Given the description of an element on the screen output the (x, y) to click on. 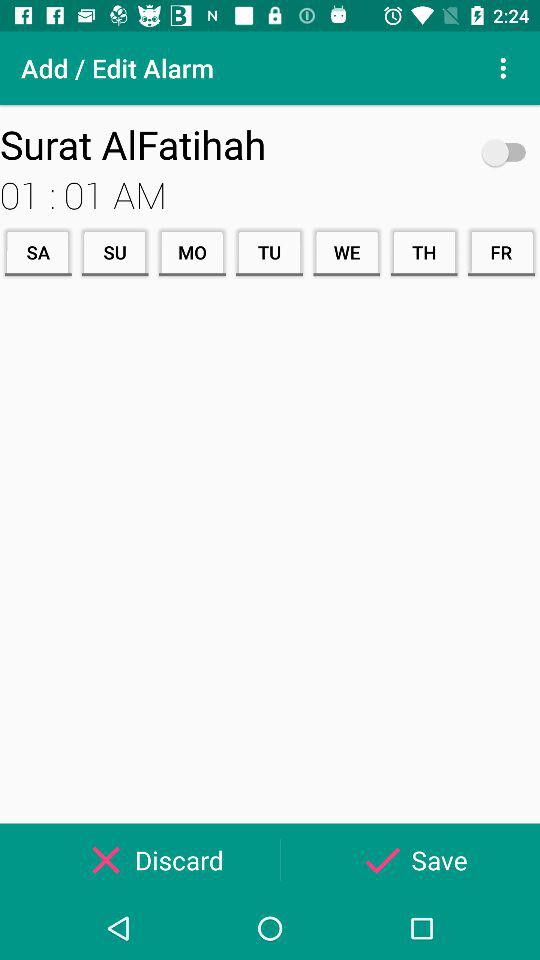
launch su icon (114, 251)
